Given the description of an element on the screen output the (x, y) to click on. 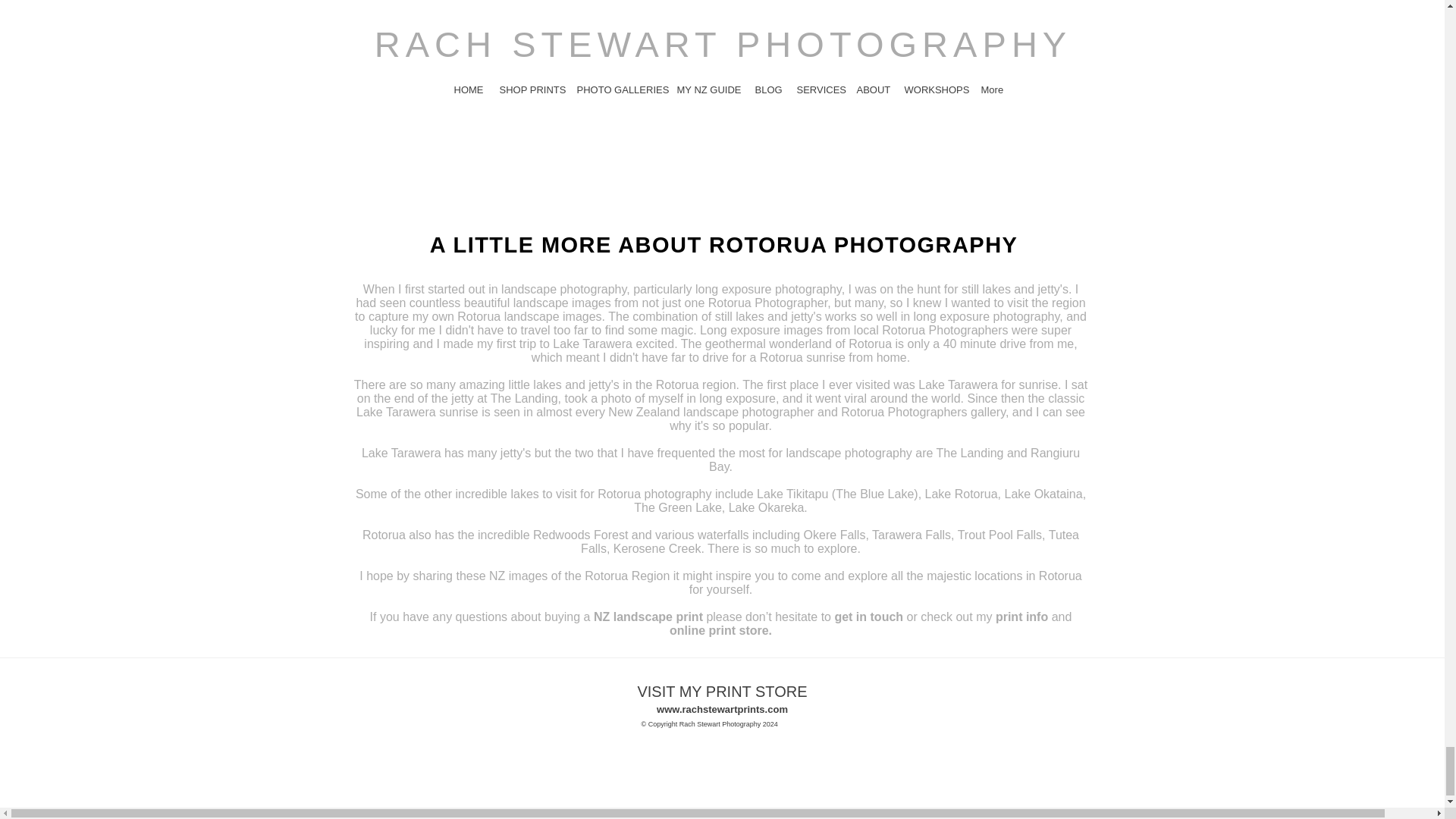
VISIT MY PRINT STORE (721, 691)
NZ landscape print (648, 616)
www.rachstewartprints.com (721, 708)
A LITTLE MORE ABOUT ROTORUA PHOTOGRAPHY (723, 244)
print info (1021, 616)
online print store (718, 630)
